Given the description of an element on the screen output the (x, y) to click on. 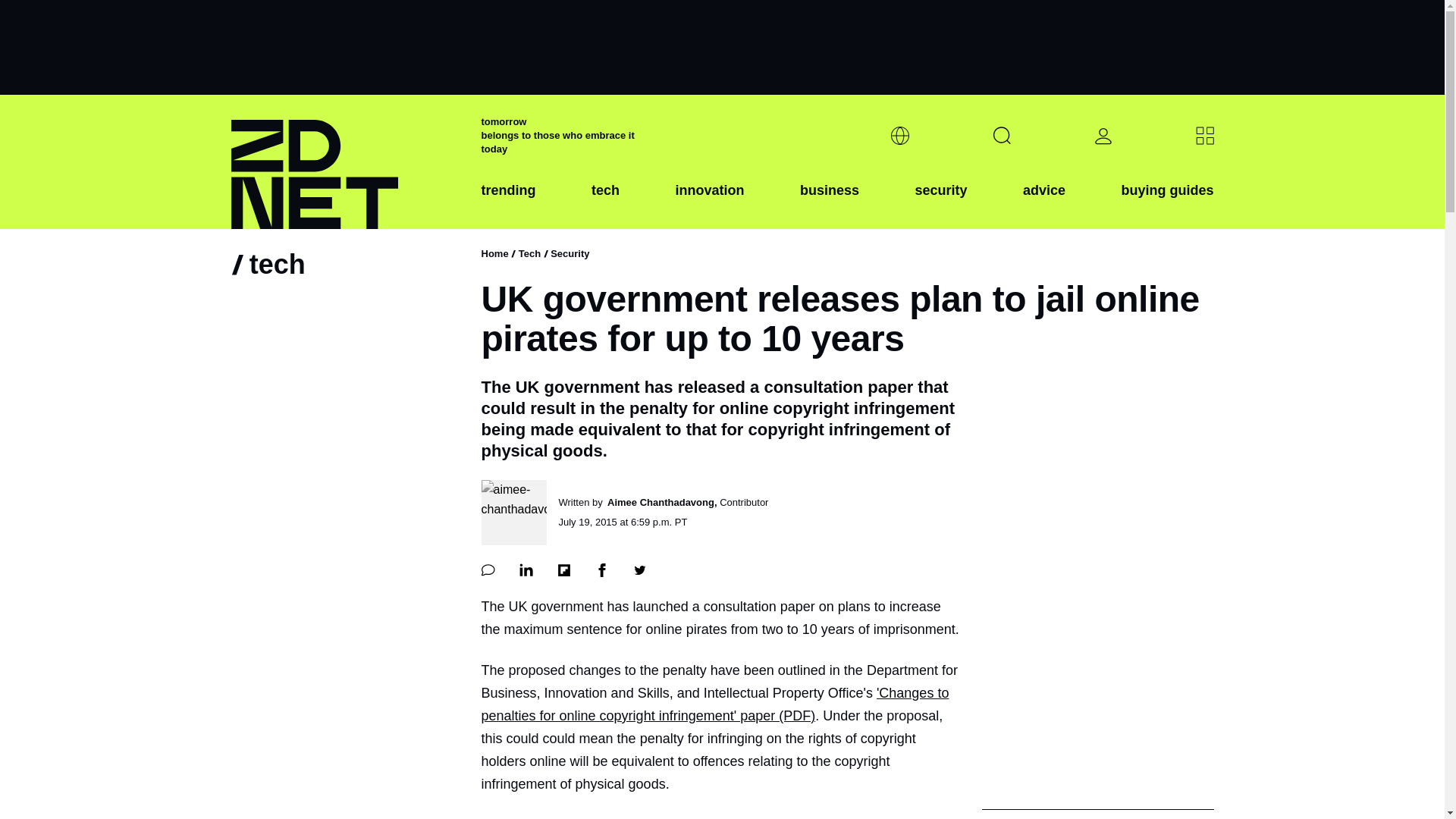
trending (507, 202)
ZDNET (346, 162)
